Given the description of an element on the screen output the (x, y) to click on. 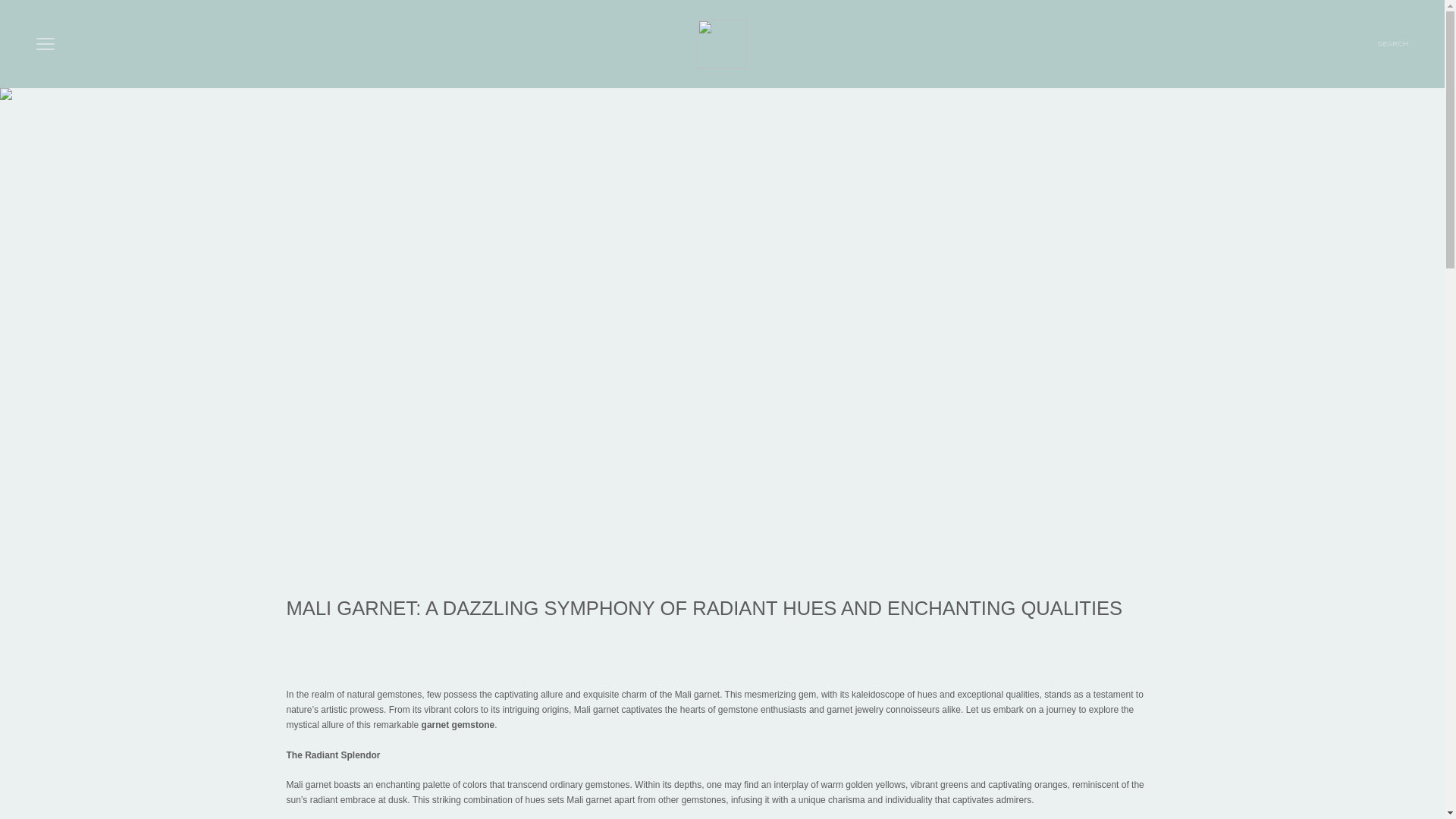
Open navigation menu (45, 44)
Jogani (721, 43)
